Given the description of an element on the screen output the (x, y) to click on. 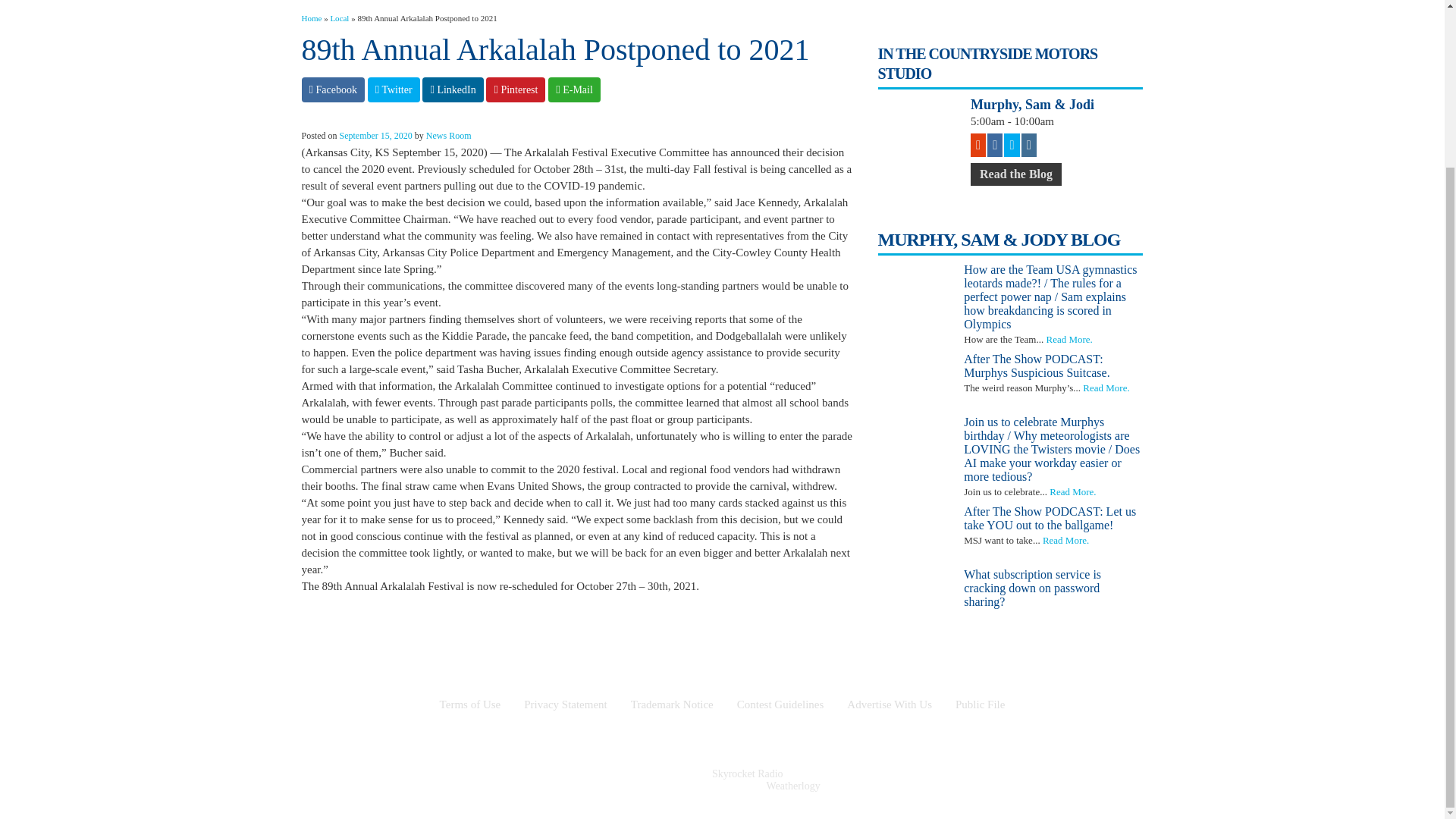
9:46 am (375, 135)
Share to Pinterest (515, 89)
E-Mail (573, 89)
Share to E-Mail (573, 89)
Share to LinkedIn (452, 89)
News Room (448, 135)
View all posts by News Room (448, 135)
Share to Facebook (333, 89)
LinkedIn (452, 89)
Pinterest (515, 89)
September 15, 2020 (375, 135)
Home (311, 17)
Share to Twitter (394, 89)
Twitter (394, 89)
